Given the description of an element on the screen output the (x, y) to click on. 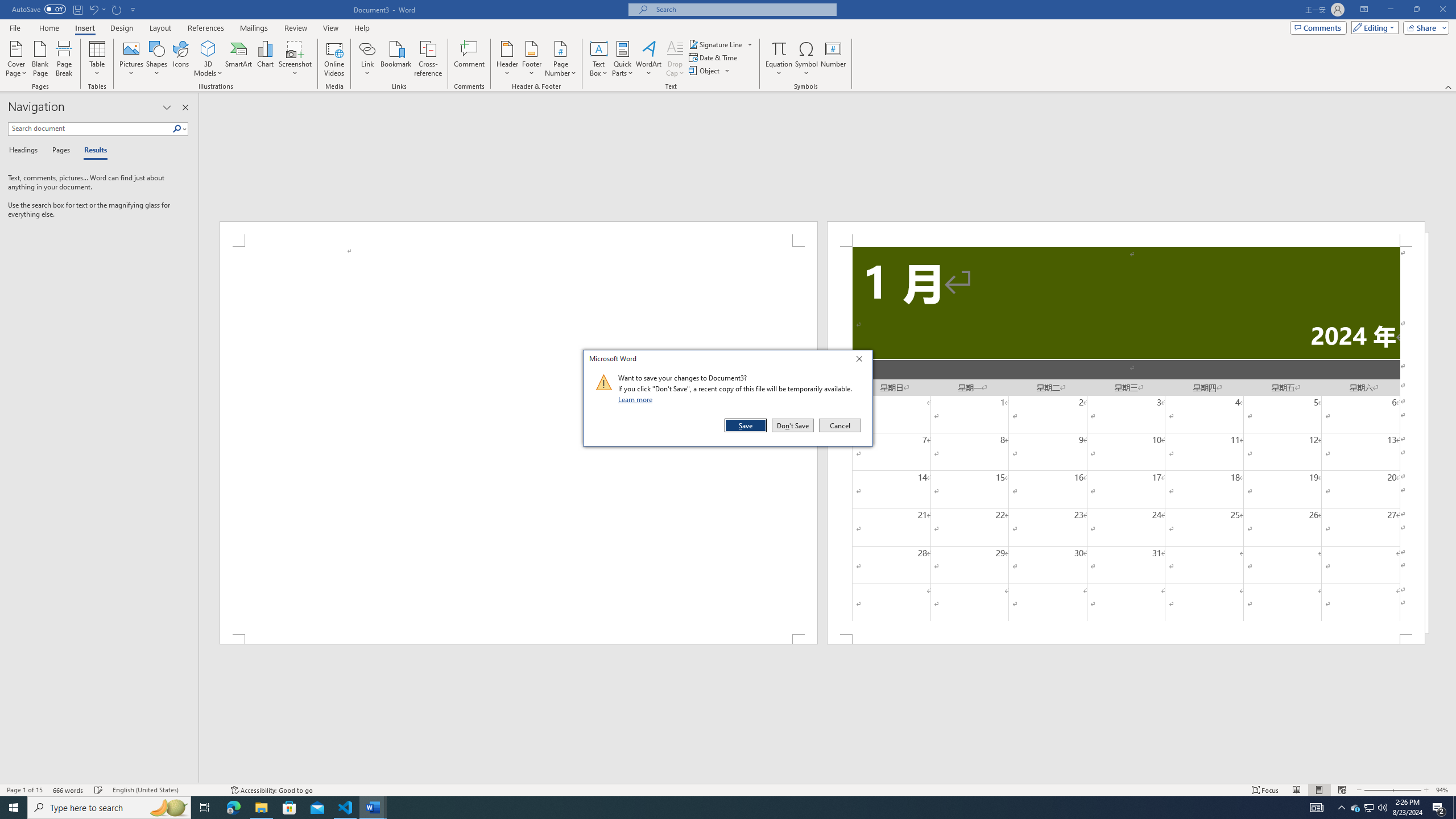
Learn more (636, 399)
Undo New Page (92, 9)
Cancel (839, 425)
Repeat New Page (117, 9)
Object... (705, 69)
